Given the description of an element on the screen output the (x, y) to click on. 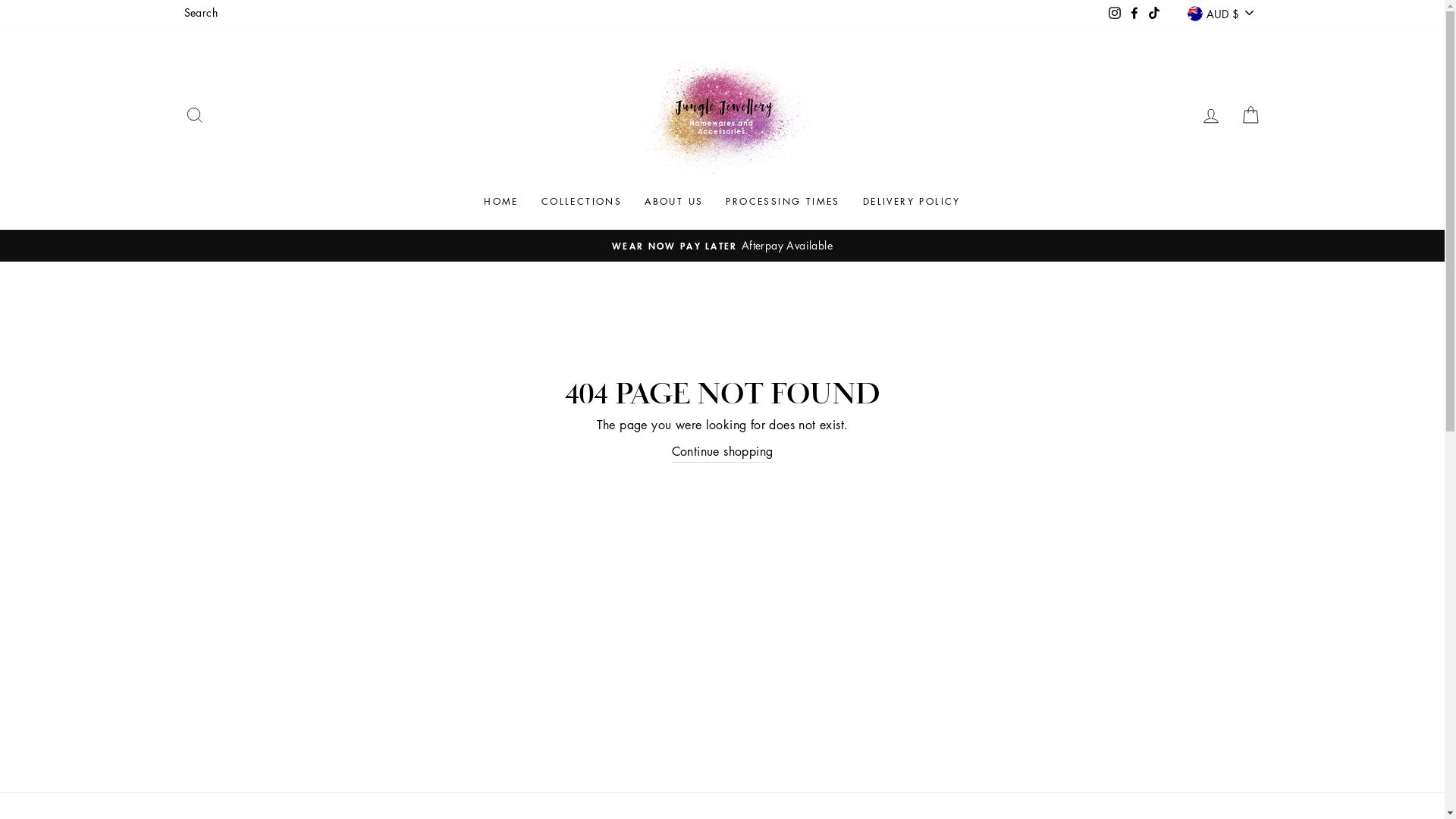
CART Element type: text (1249, 114)
TikTok Element type: text (1154, 12)
SEARCH Element type: text (193, 114)
Search Element type: text (199, 12)
Continue shopping Element type: text (722, 452)
LOG IN Element type: text (1210, 114)
HOME Element type: text (501, 201)
ABOUT US Element type: text (673, 201)
COLLECTIONS Element type: text (581, 201)
Instagram Element type: text (1114, 12)
PROCESSING TIMES Element type: text (782, 201)
AUD $ Element type: text (1220, 13)
DELIVERY POLICY Element type: text (911, 201)
Skip to content Element type: text (0, 0)
Facebook Element type: text (1134, 12)
